Given the description of an element on the screen output the (x, y) to click on. 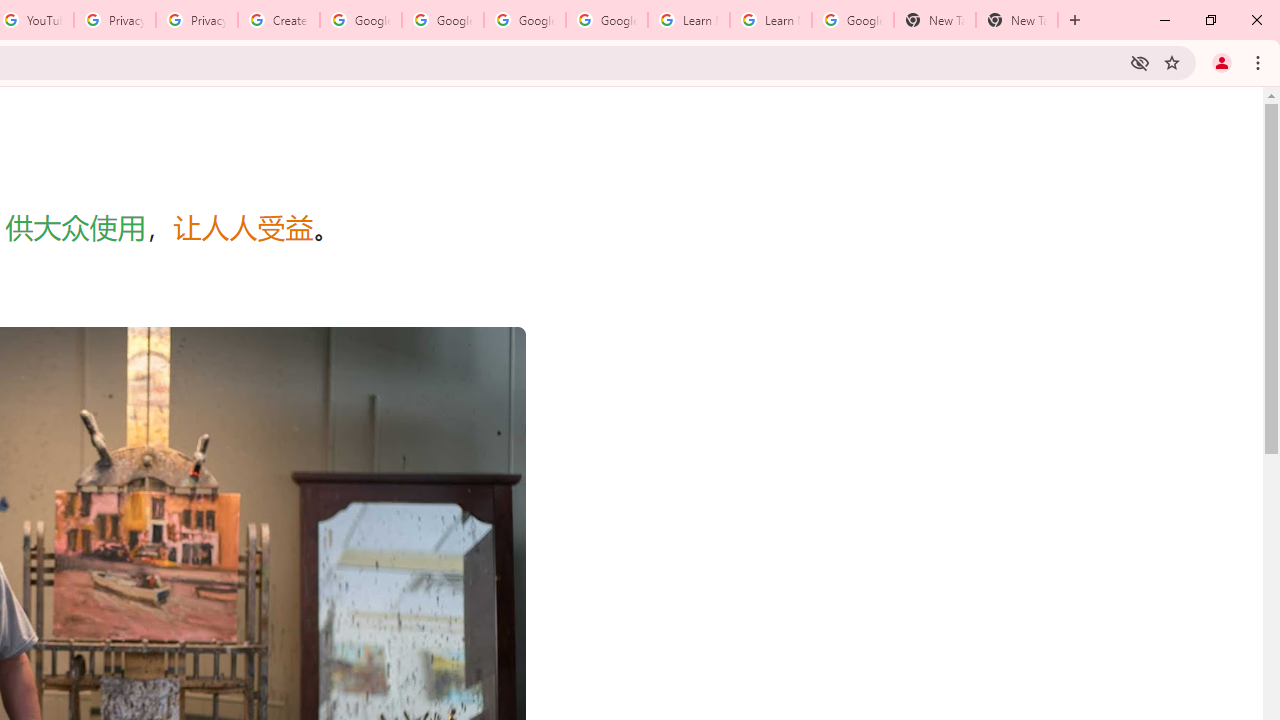
Google Account Help (606, 20)
Google Account Help (360, 20)
New Tab (1016, 20)
